Given the description of an element on the screen output the (x, y) to click on. 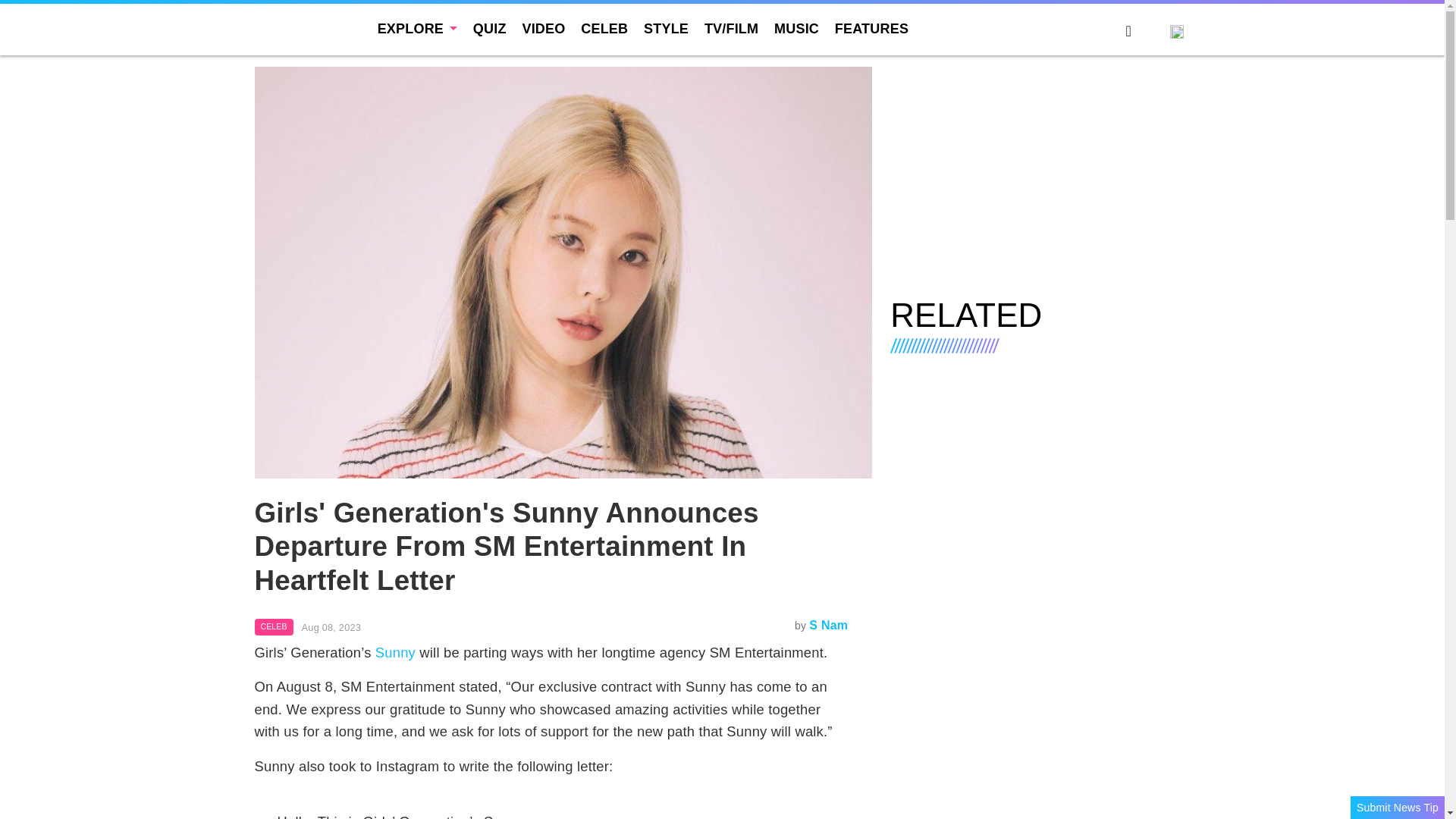
FEATURES (871, 28)
MUSIC (796, 28)
Sunny (394, 652)
Articles by S Nam (828, 625)
VIDEO (542, 28)
EXPLORE (417, 28)
STYLE (665, 28)
CELEB (274, 627)
CELEB (603, 28)
S Nam (828, 625)
QUIZ (489, 28)
Celeb (274, 627)
Night Mode Toggle (1149, 33)
